Given the description of an element on the screen output the (x, y) to click on. 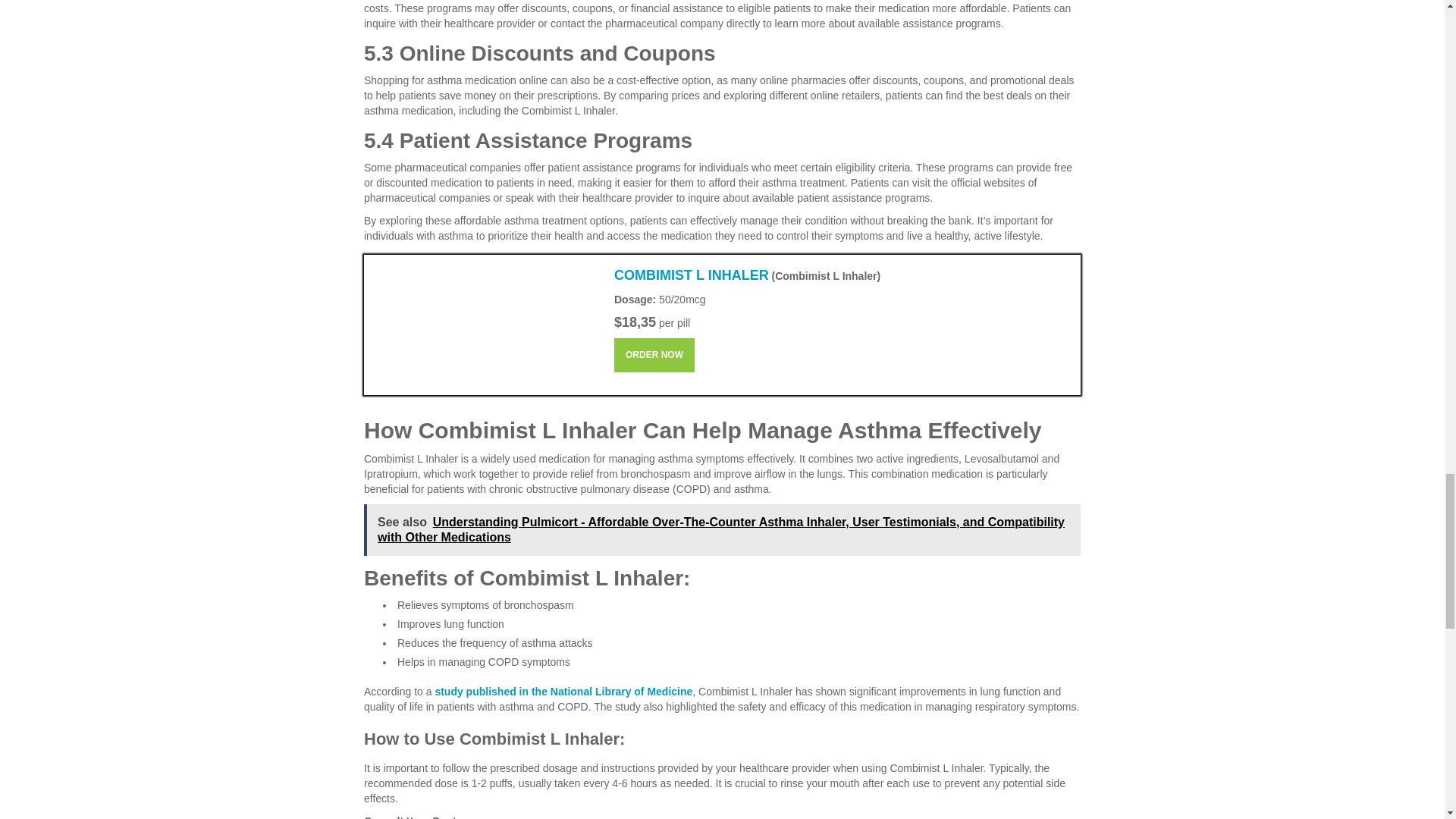
study published in the National Library of Medicine (563, 691)
ORDER NOW (654, 355)
